Given the description of an element on the screen output the (x, y) to click on. 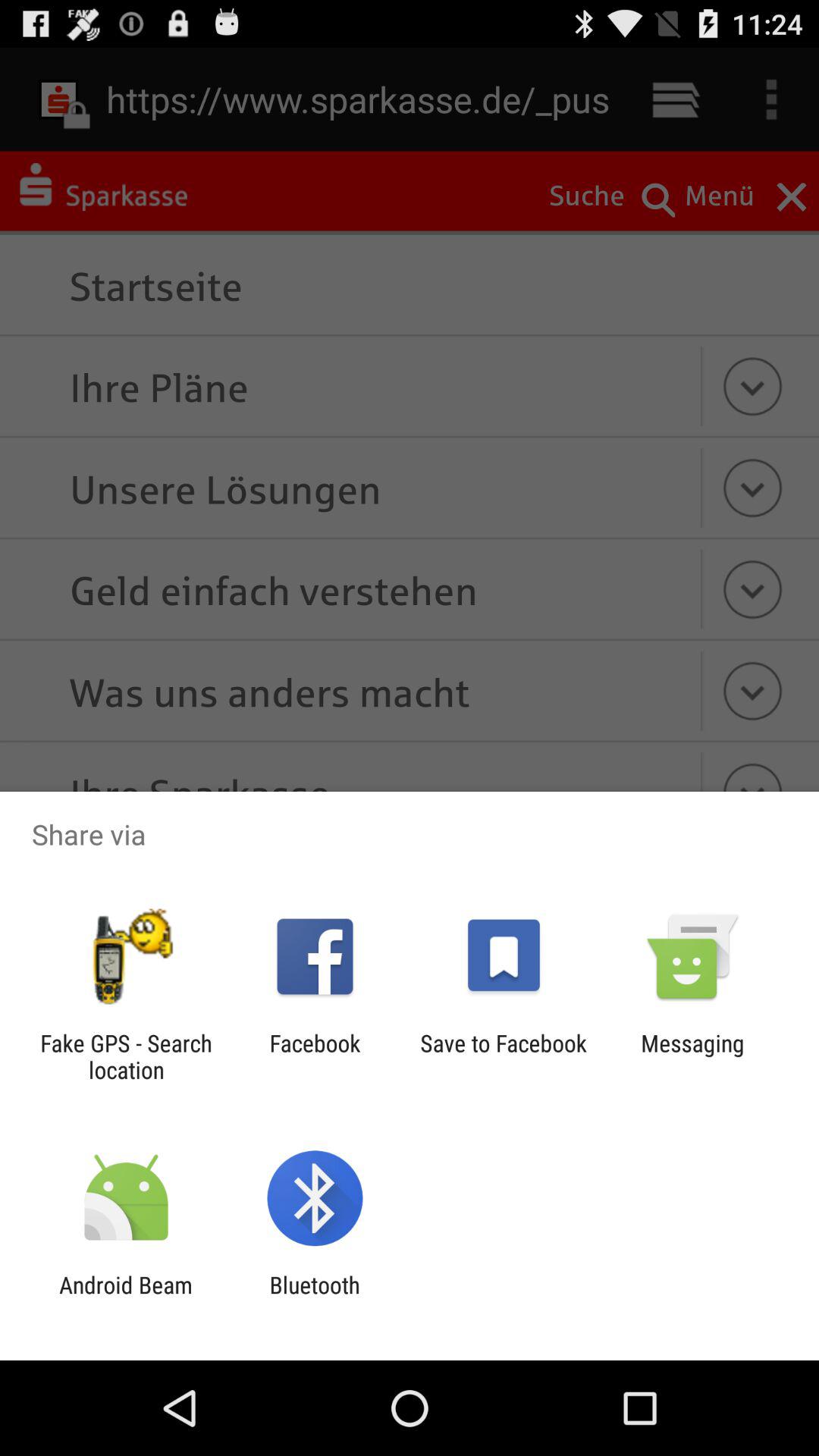
launch icon to the right of facebook app (503, 1056)
